Given the description of an element on the screen output the (x, y) to click on. 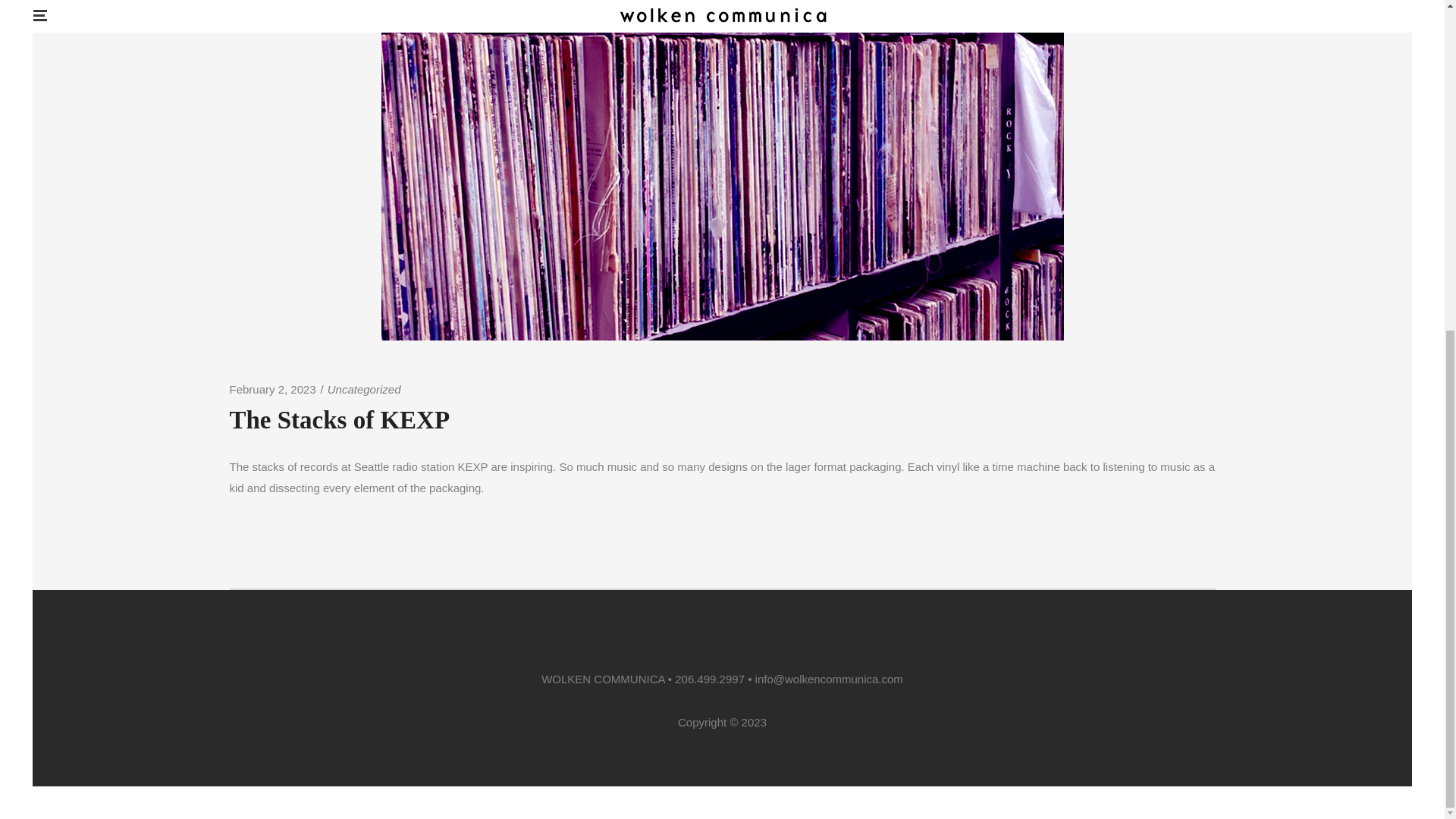
Uncategorized (364, 389)
